Given the description of an element on the screen output the (x, y) to click on. 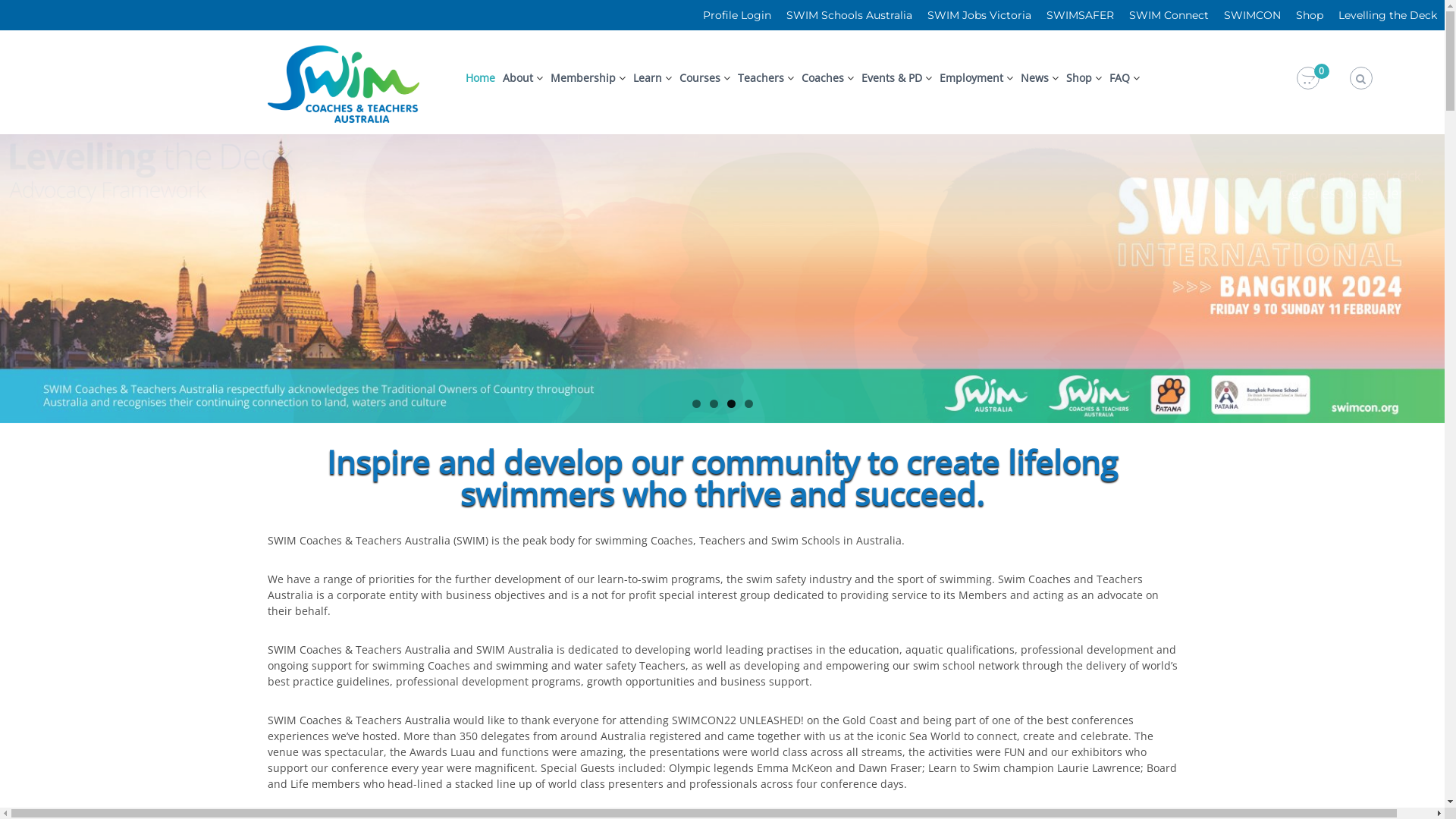
About Element type: text (517, 77)
Coaches Element type: text (822, 77)
Learn Element type: text (647, 77)
LevellingThe Deck Web Banner-web-w Element type: hover (722, 278)
Profile Login Element type: text (736, 15)
3 Element type: text (730, 403)
0 Element type: text (1307, 78)
SWIM Jobs Victoria Element type: text (978, 15)
FAQ Element type: text (1119, 77)
SWIM Schools Australia Element type: text (848, 15)
Membership Element type: text (582, 77)
SWIM Connect Element type: text (1168, 15)
Teachers Element type: text (760, 77)
2 Element type: text (713, 403)
Shop Element type: text (1079, 77)
Home Element type: text (480, 77)
4 Element type: text (748, 403)
Employment Element type: text (971, 77)
Levelling the Deck Element type: text (1387, 15)
SWIMSAFER Element type: text (1079, 15)
Shop Element type: text (1309, 15)
Courses Element type: text (699, 77)
1 Element type: text (695, 403)
SWIM Coaches and Teachers Australia Element type: text (434, 312)
Skip to content Element type: text (0, 30)
SWIMCON Element type: text (1252, 15)
News Element type: text (1034, 77)
Events & PD Element type: text (891, 77)
